Given the description of an element on the screen output the (x, y) to click on. 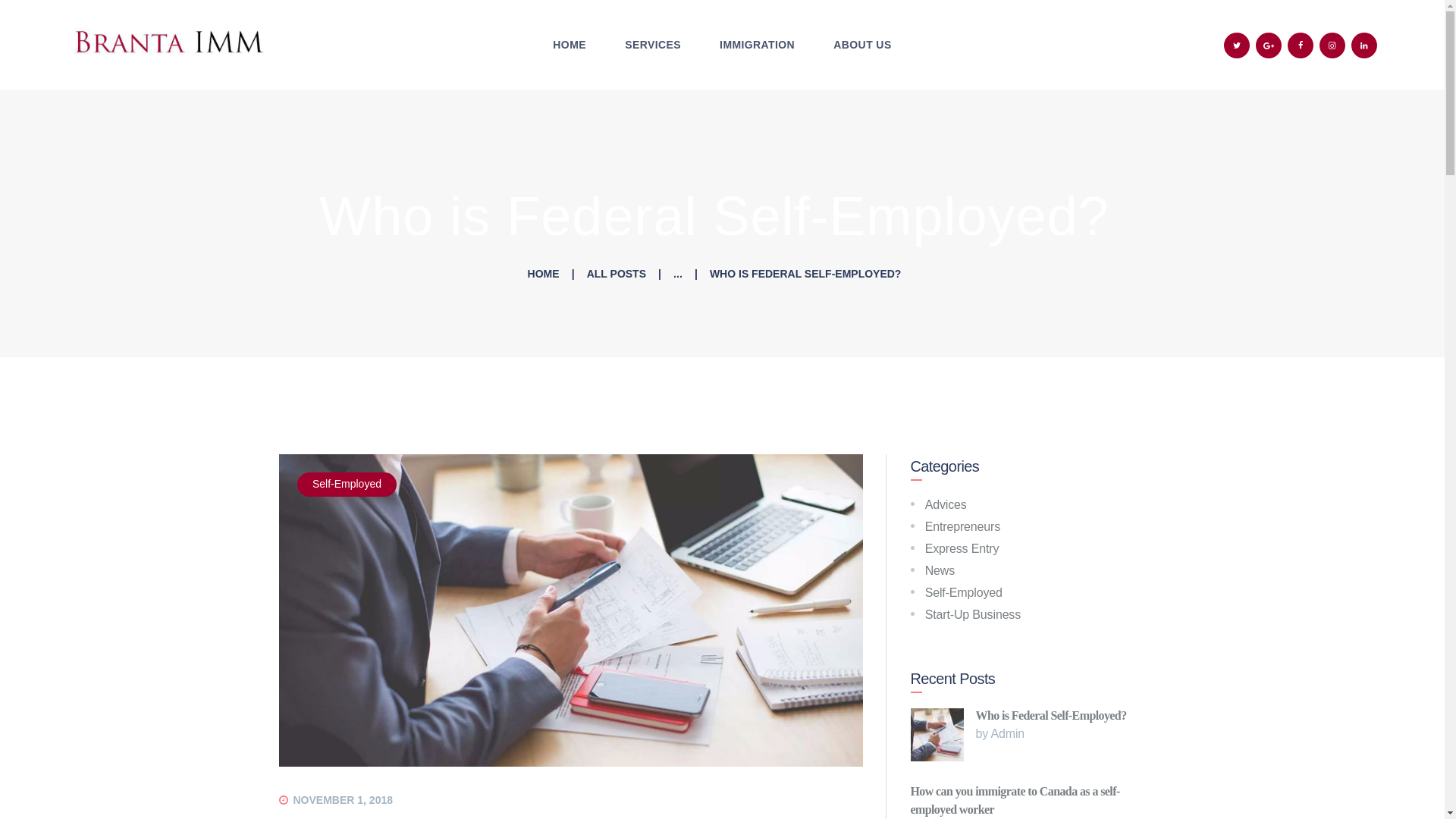
HOME (569, 45)
ABOUT US (862, 45)
NOVEMBER 1, 2018 (342, 799)
ALL POSTS (616, 273)
Self-Employed (347, 484)
SERVICES (652, 45)
HOME (543, 273)
IMMIGRATION (756, 45)
